Given the description of an element on the screen output the (x, y) to click on. 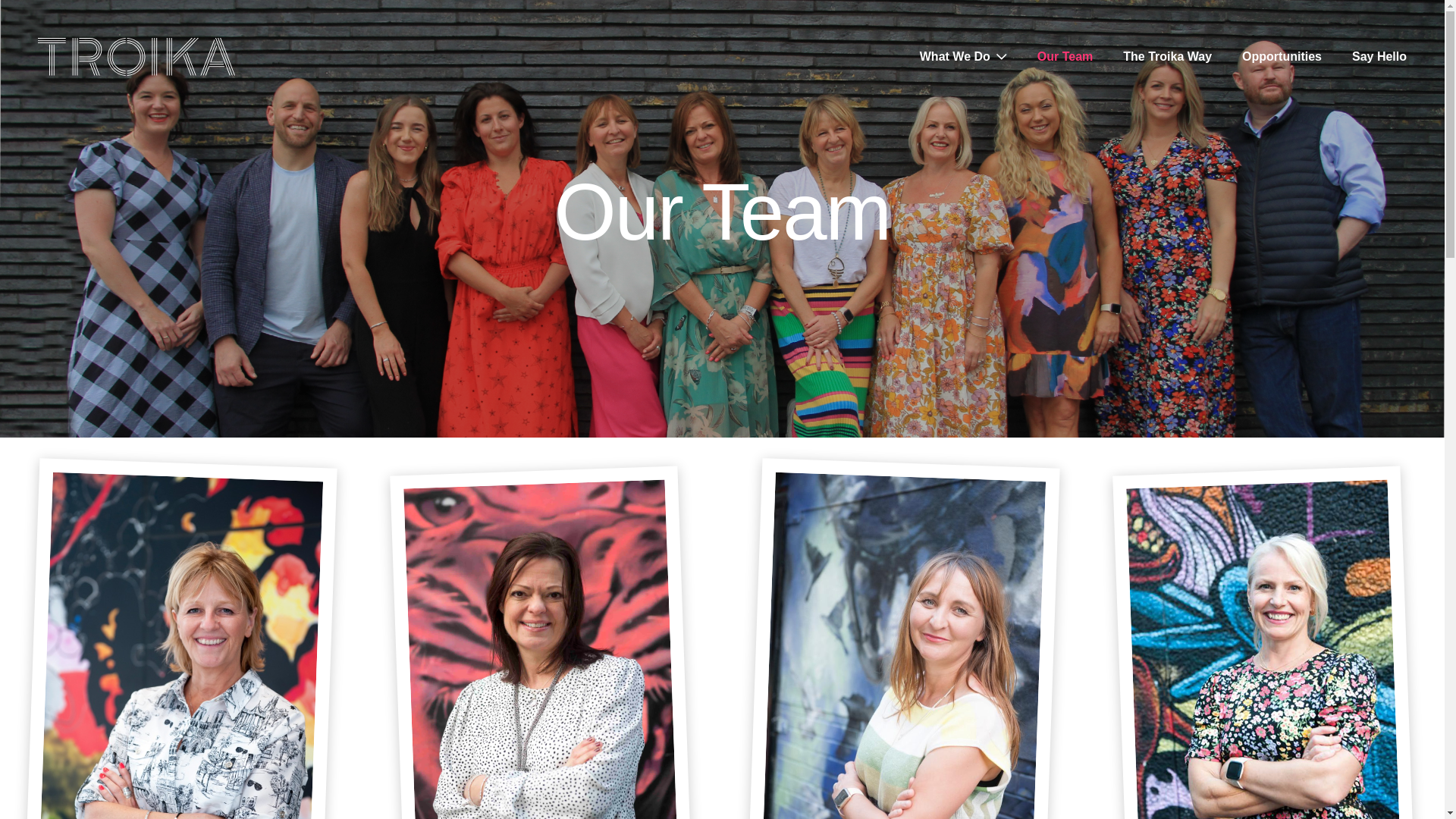
Opportunities (1281, 56)
Troika (135, 56)
Our Team (1064, 56)
The Troika Way (1166, 56)
Say Hello (1379, 56)
What We Do (955, 56)
